Given the description of an element on the screen output the (x, y) to click on. 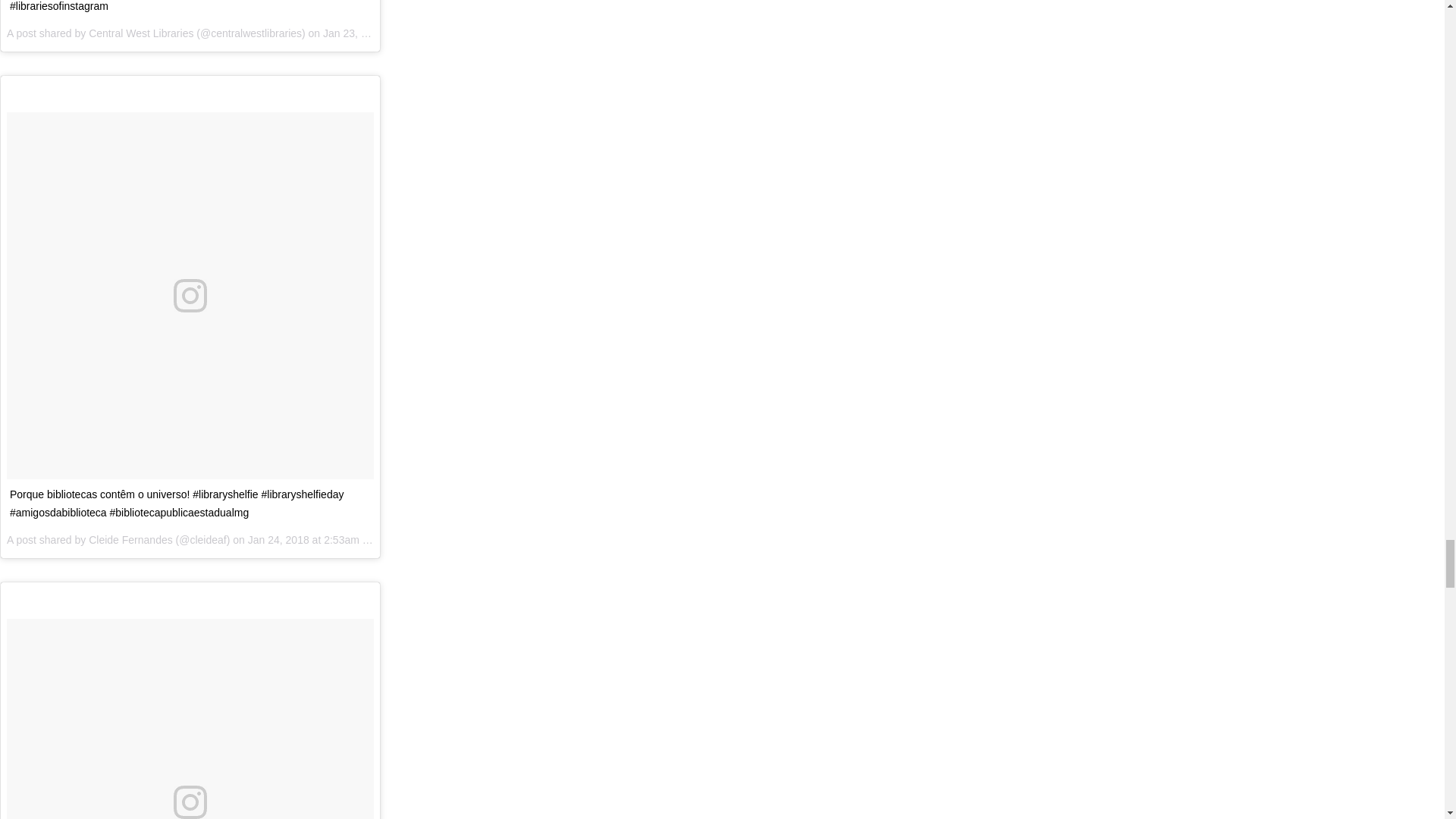
Central West Libraries (140, 33)
Cleide Fernandes (130, 539)
